Given the description of an element on the screen output the (x, y) to click on. 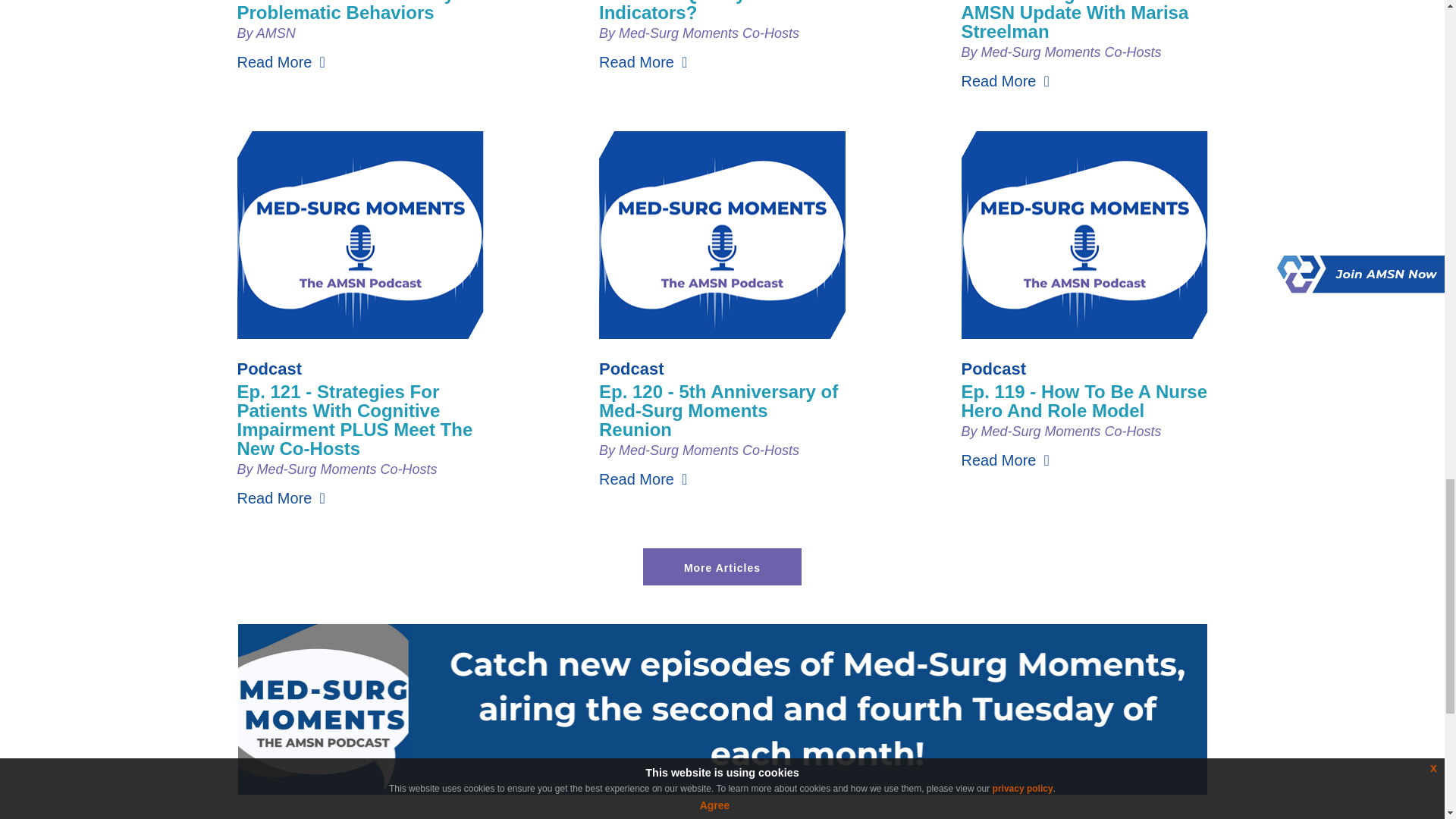
Ep. 123 - What Are Nursing-Sensitive Quality Indicators? (718, 11)
Read More (642, 62)
Read More (279, 62)
